Given the description of an element on the screen output the (x, y) to click on. 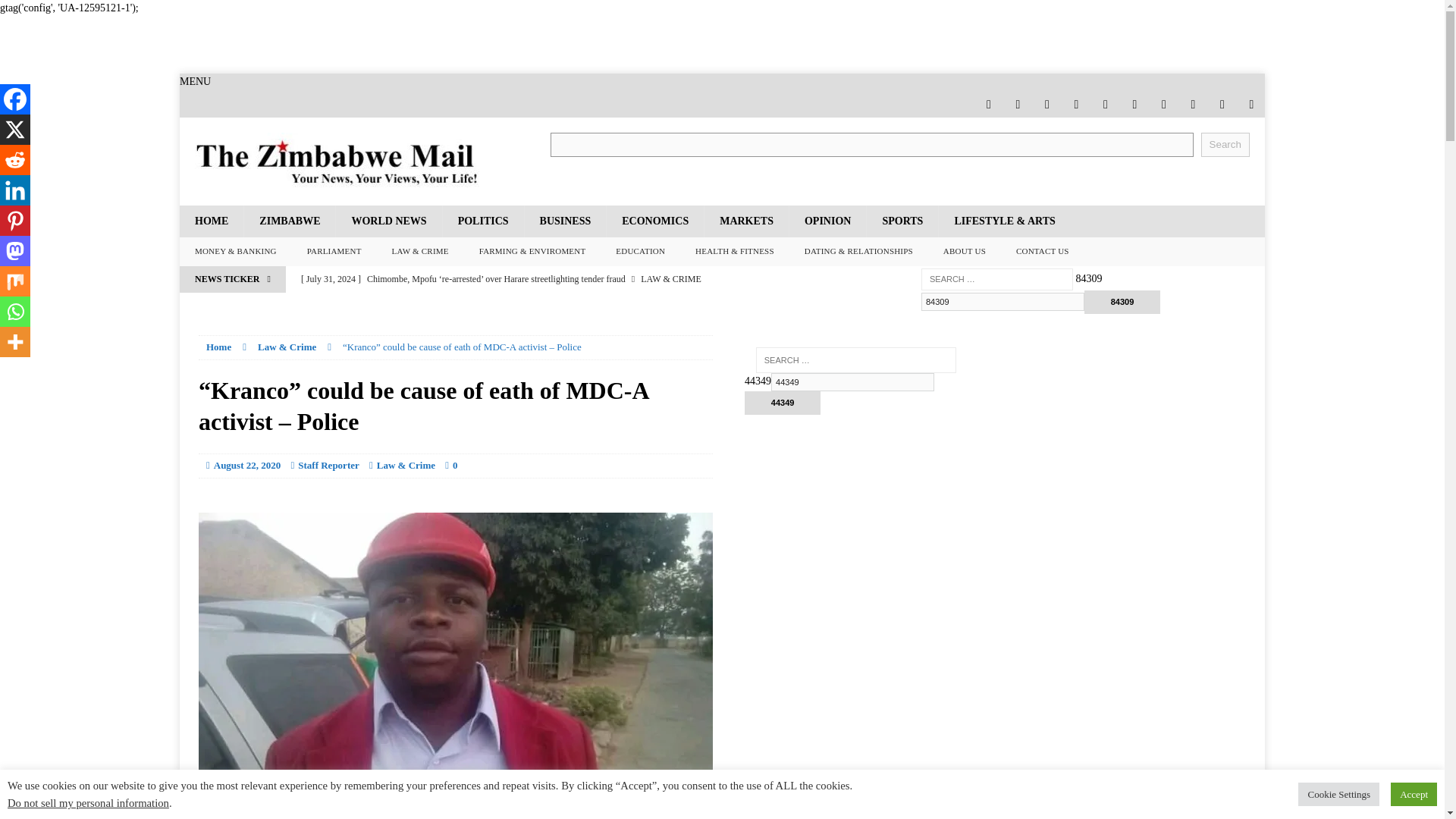
MENU (195, 81)
SPORTS (901, 221)
ZIMBABWE (288, 221)
44349 (852, 382)
PARLIAMENT (334, 251)
EDUCATION (639, 251)
MARKETS (746, 221)
Search (1225, 144)
44349 (782, 402)
BUSINESS (565, 221)
84309 (1122, 301)
HOME (211, 221)
POLITICS (483, 221)
ECONOMICS (654, 221)
